Given the description of an element on the screen output the (x, y) to click on. 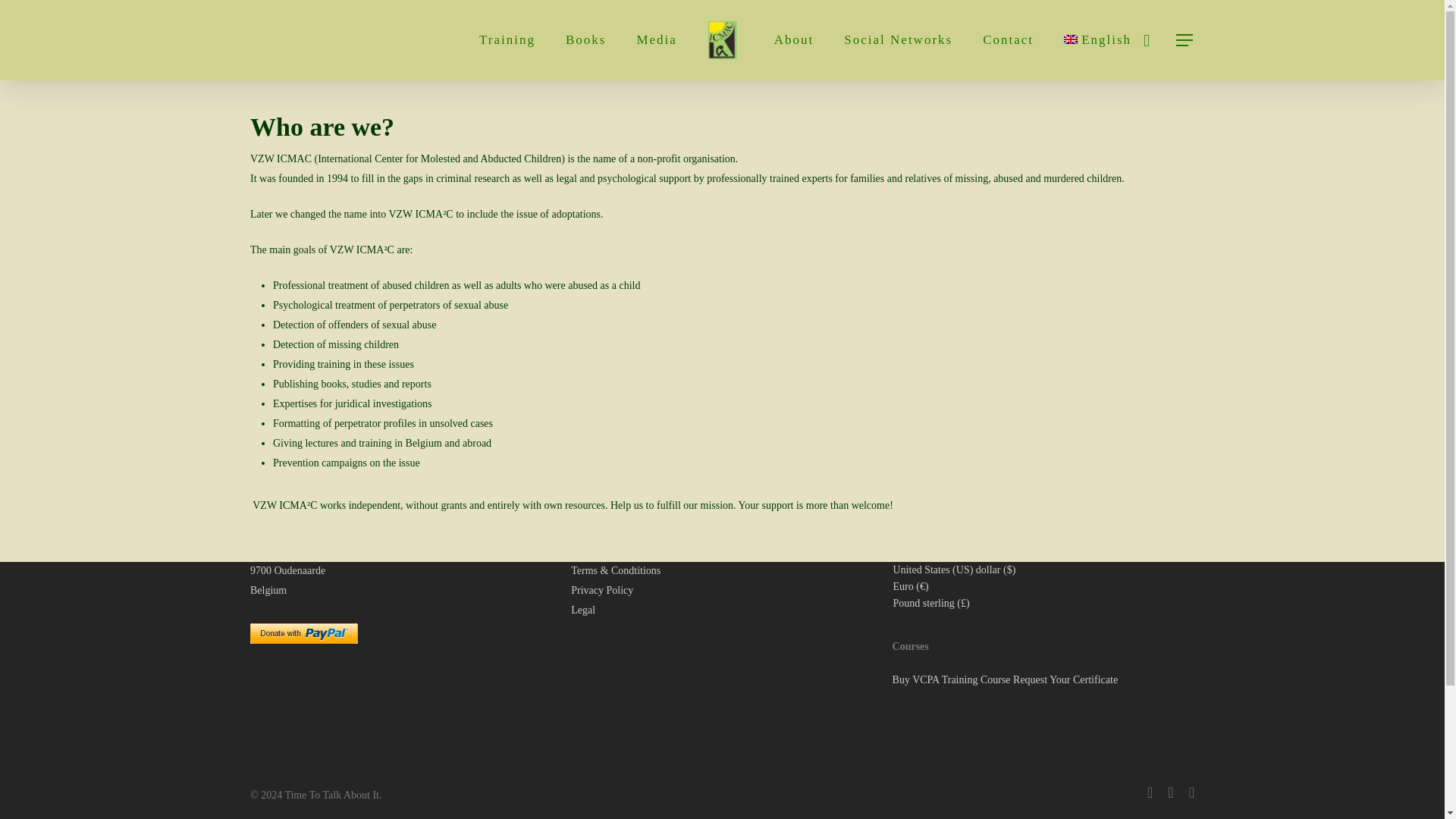
Social Networks (898, 39)
Buy VCPA Training Course (951, 679)
English (1097, 39)
Privacy Policy (601, 590)
Request Your Certificate (1065, 679)
English (1097, 39)
About (793, 39)
Media (656, 39)
Contact (1007, 39)
Books (585, 39)
Training (507, 39)
Legal (582, 609)
